Given the description of an element on the screen output the (x, y) to click on. 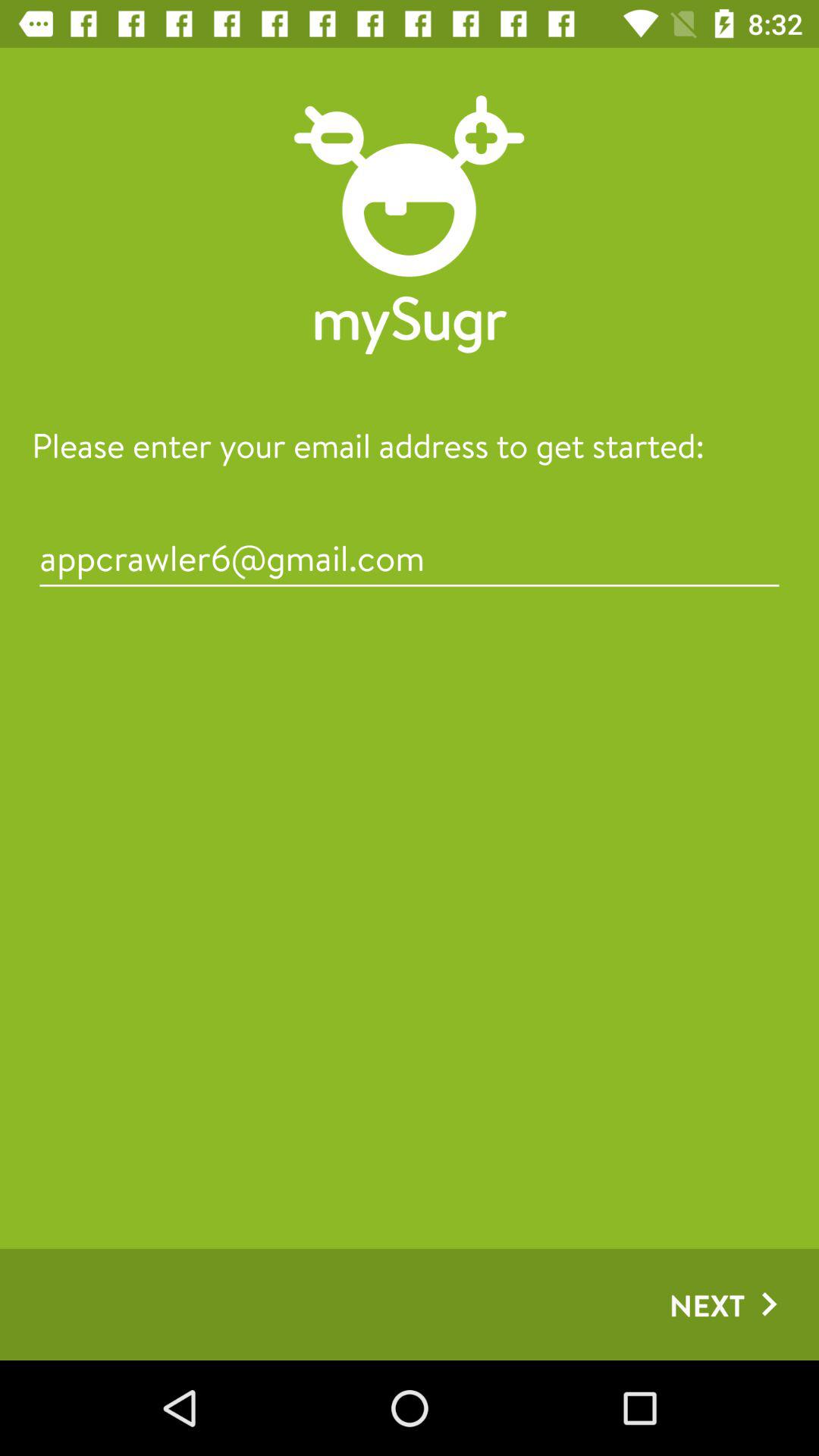
scroll until the appcrawler6@gmail.com item (409, 557)
